Given the description of an element on the screen output the (x, y) to click on. 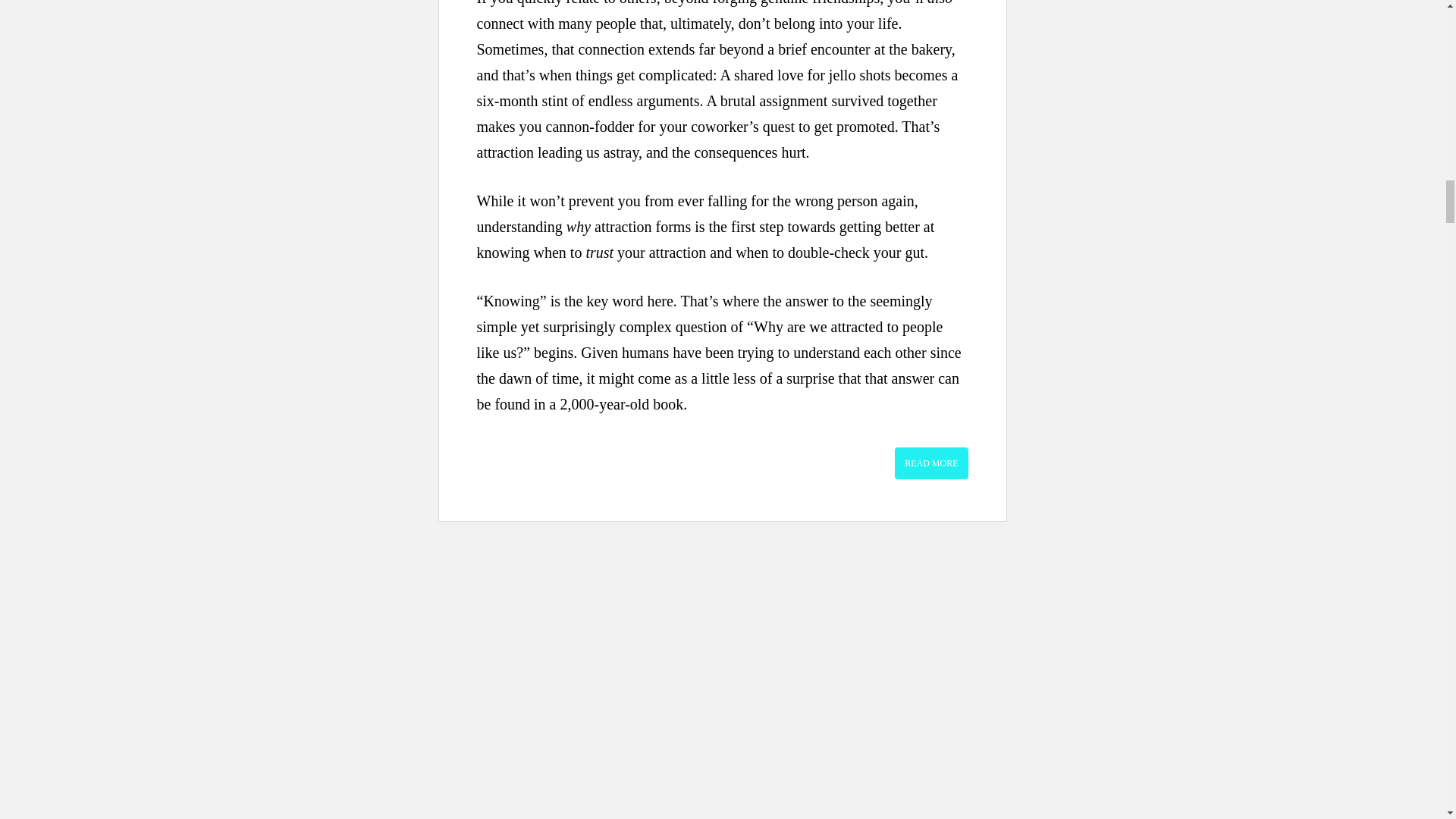
READ MORE (931, 463)
